Given the description of an element on the screen output the (x, y) to click on. 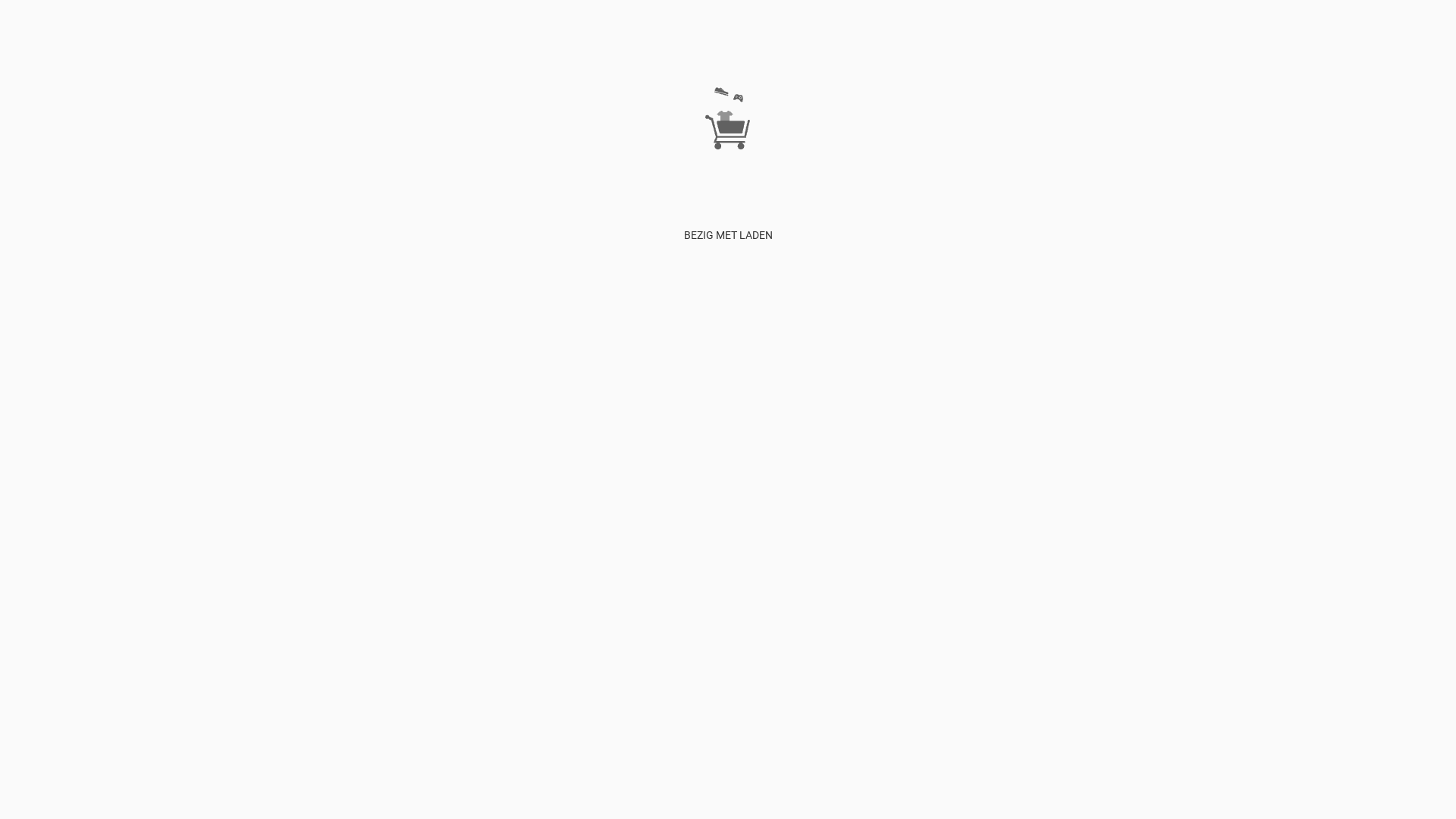
Mijn Account Element type: text (936, 96)
Checkout Element type: text (1059, 96)
DAMES Element type: text (1101, 96)
Disclaimer Element type: text (879, 96)
Over Element type: text (842, 96)
Winkelmandje Element type: text (1002, 96)
HEREN Element type: text (1138, 96)
UNI Element type: text (1166, 96)
www.arvatex.be Element type: text (358, 202)
CADEAUBON Element type: text (1208, 96)
Verkennen Element type: text (803, 96)
Home Element type: text (762, 96)
